Given the description of an element on the screen output the (x, y) to click on. 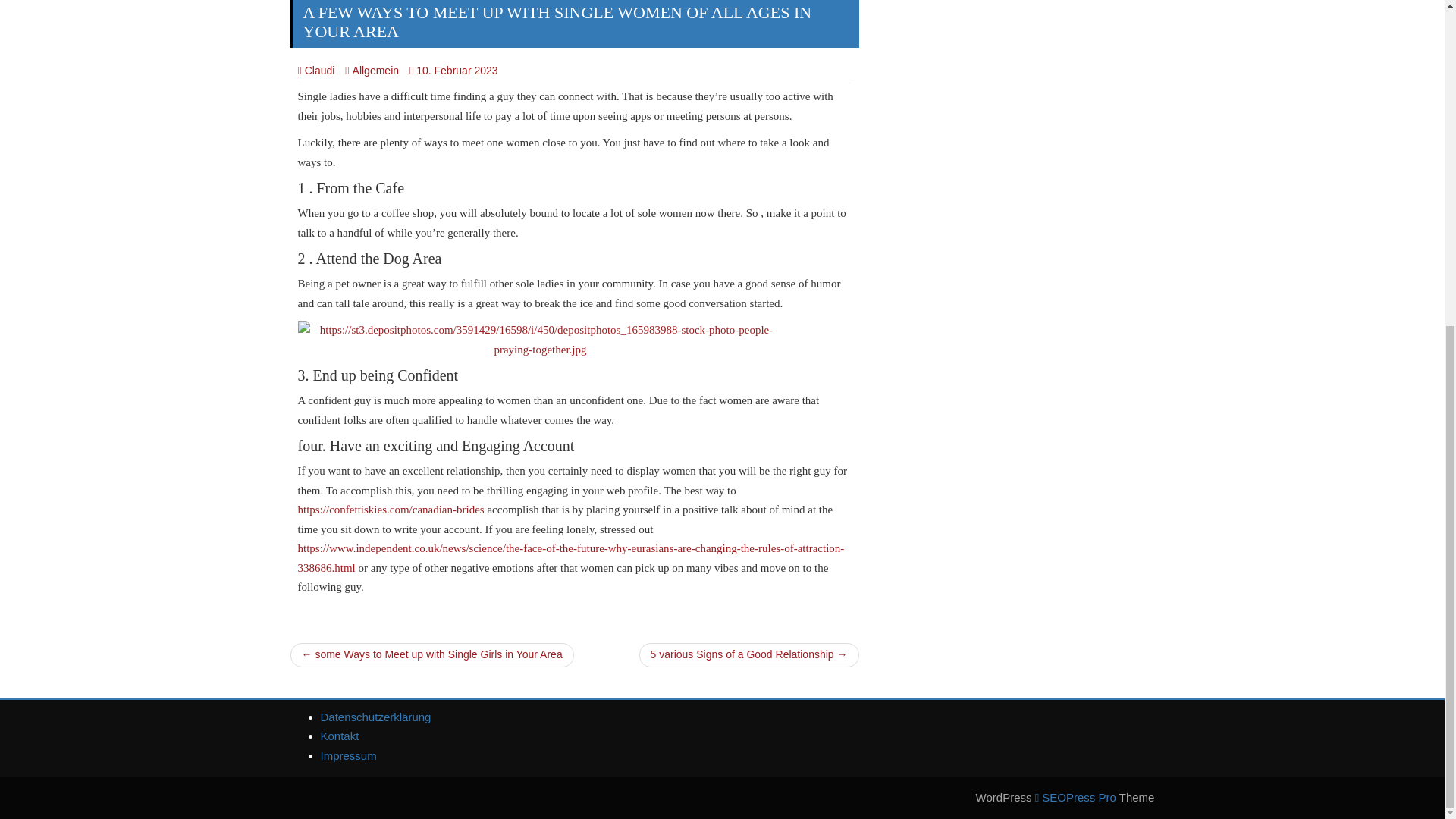
Allgemein (371, 70)
10. Februar 2023 (457, 70)
Claudi (315, 70)
Impressum (347, 755)
Kontakt (339, 735)
SEOPress Pro (1075, 797)
